Given the description of an element on the screen output the (x, y) to click on. 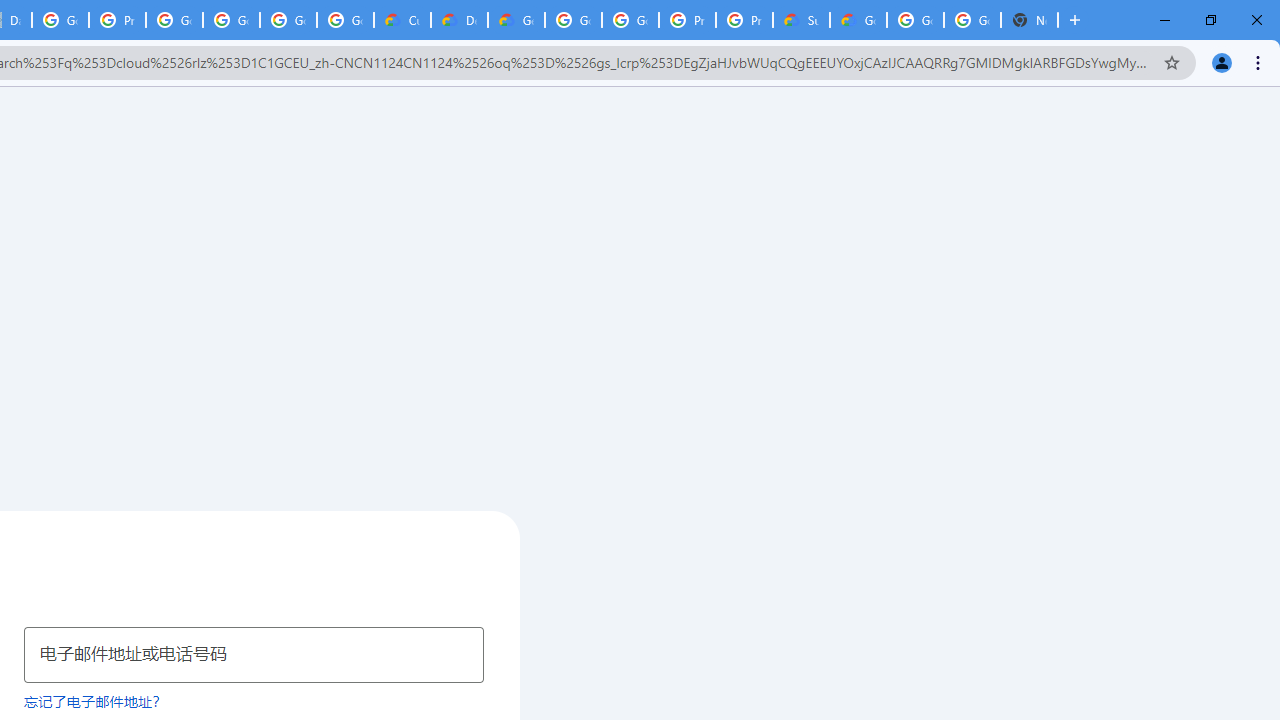
Google Workspace - Specific Terms (345, 20)
Support Hub | Google Cloud (801, 20)
Google Cloud Platform (573, 20)
Google Cloud Platform (630, 20)
